Given the description of an element on the screen output the (x, y) to click on. 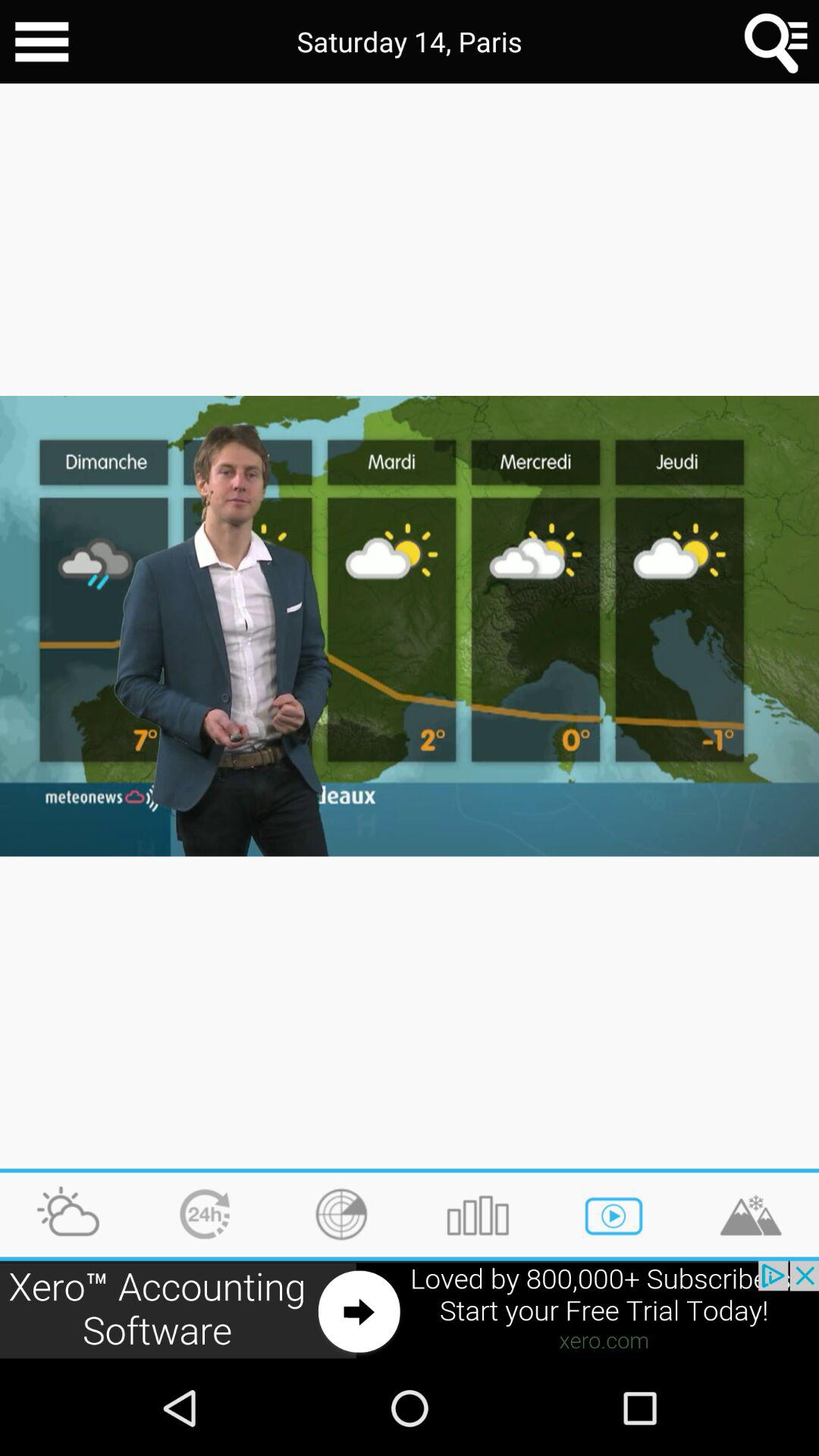
search button (777, 41)
